Given the description of an element on the screen output the (x, y) to click on. 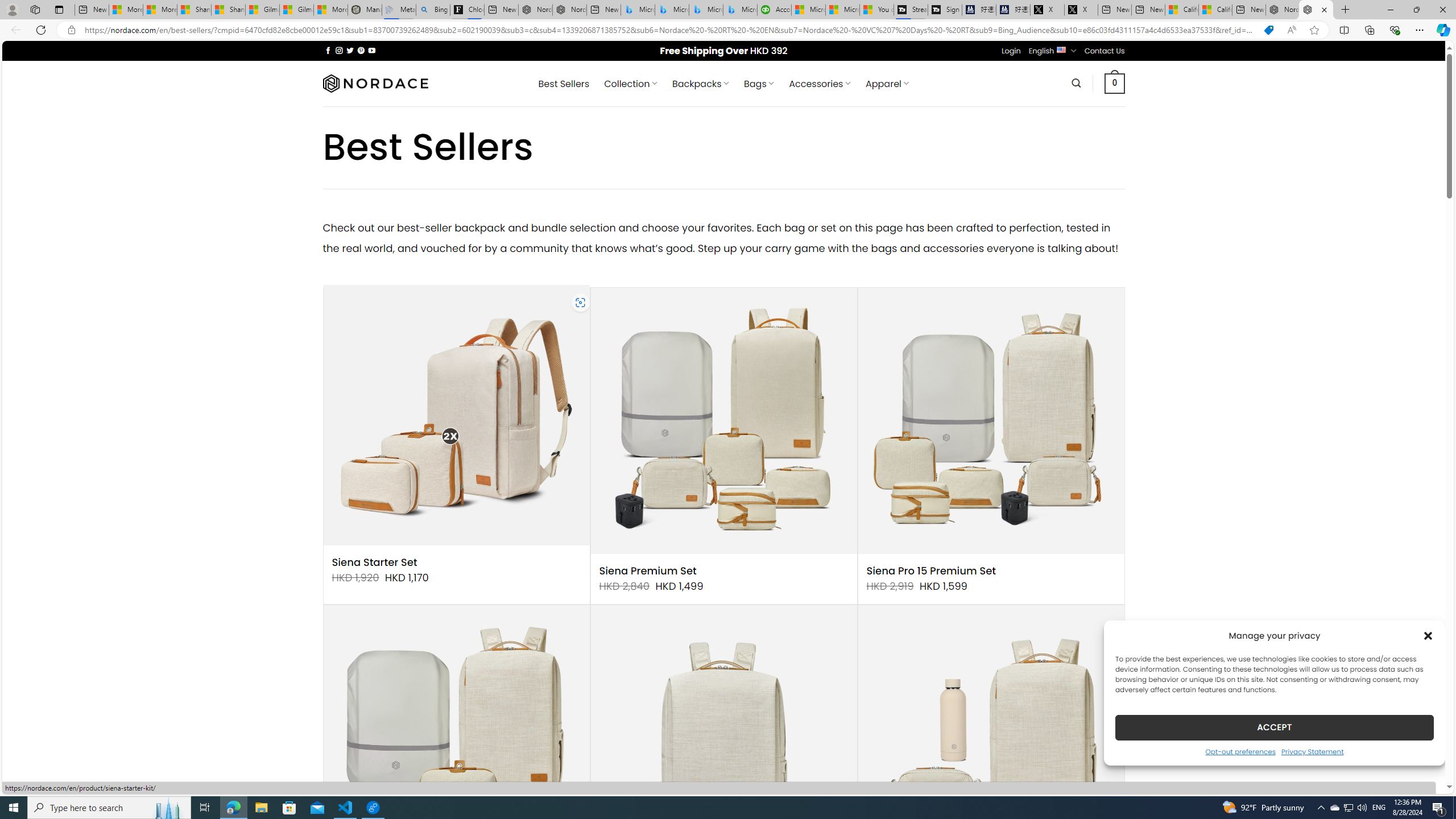
Microsoft Bing Travel - Shangri-La Hotel Bangkok (739, 9)
Follow on YouTube (371, 49)
This site has coupons! Shopping in Microsoft Edge (1268, 29)
  0   (1115, 83)
Nordace - Best Sellers (1316, 9)
